Given the description of an element on the screen output the (x, y) to click on. 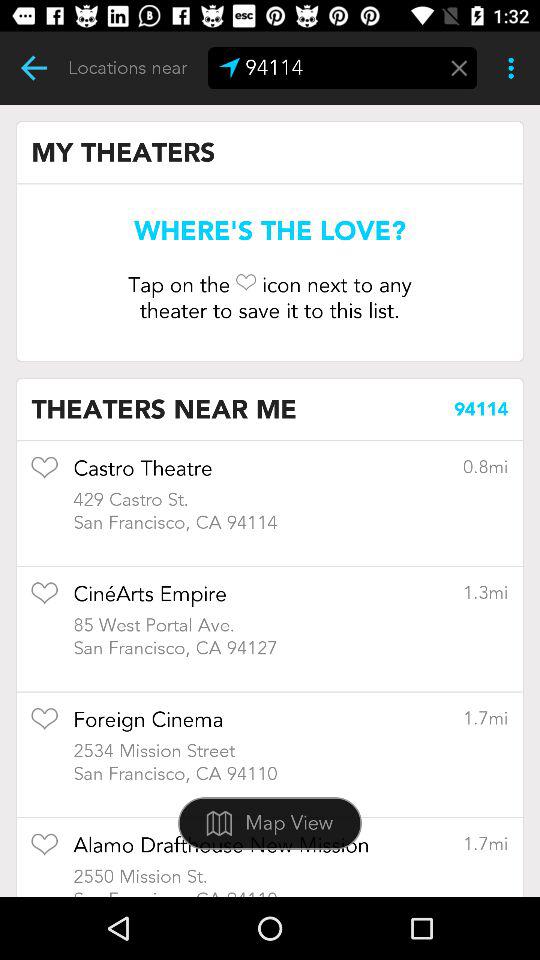
add item to favorites (44, 474)
